Given the description of an element on the screen output the (x, y) to click on. 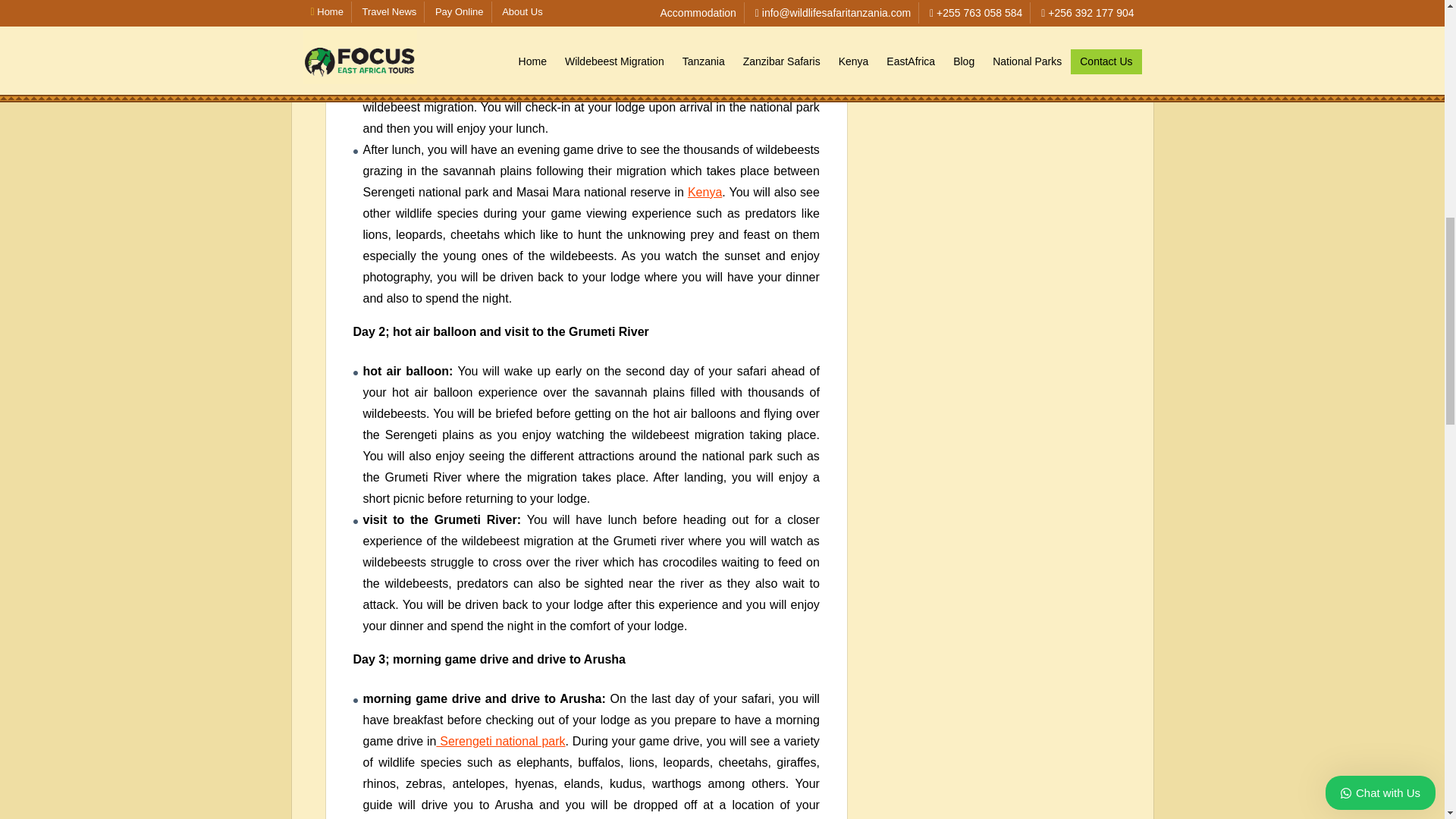
Serengeti national park (499, 740)
Tanzania (608, 64)
Kenya (704, 192)
